Given the description of an element on the screen output the (x, y) to click on. 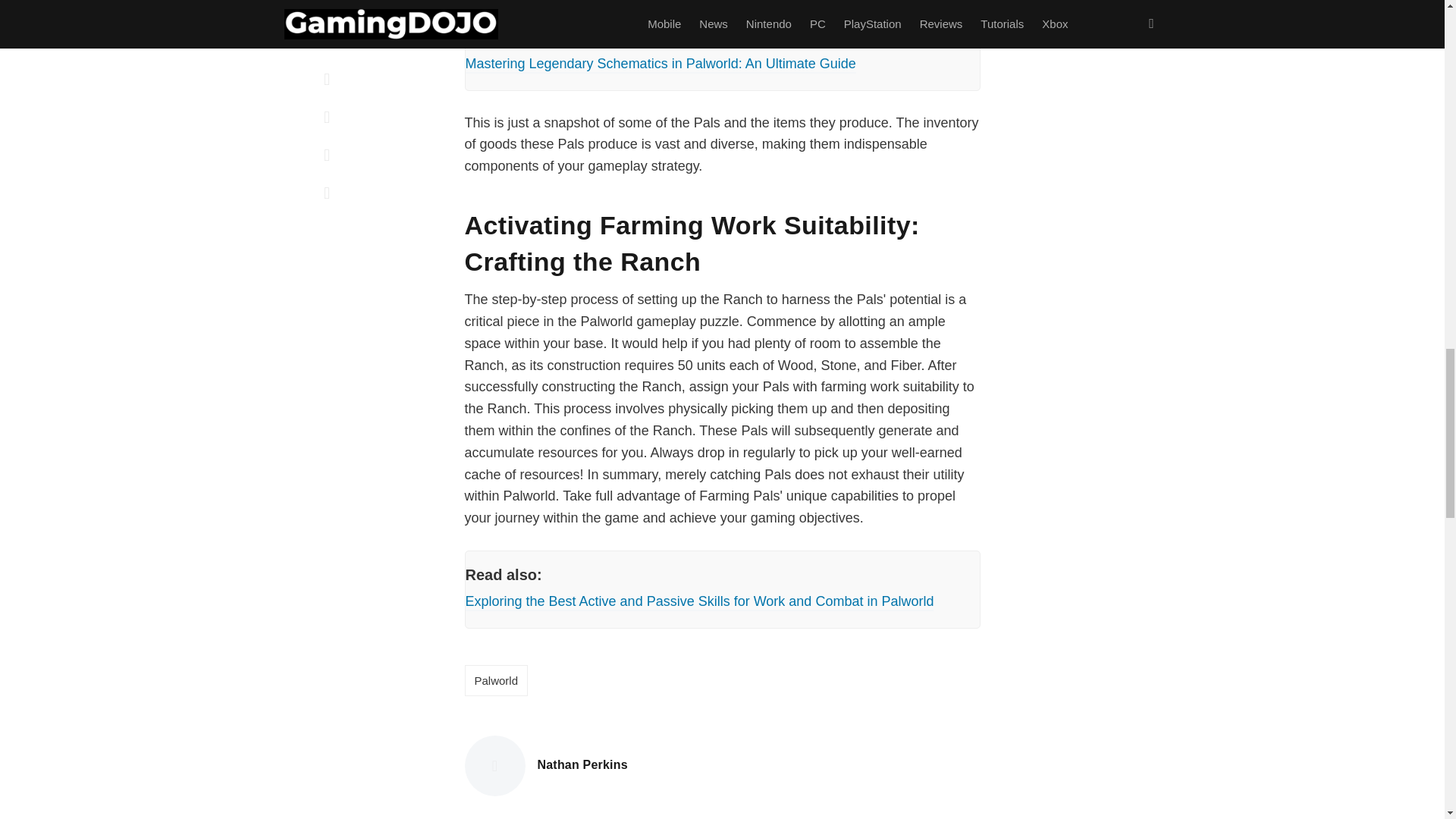
Palworld (495, 680)
